Given the description of an element on the screen output the (x, y) to click on. 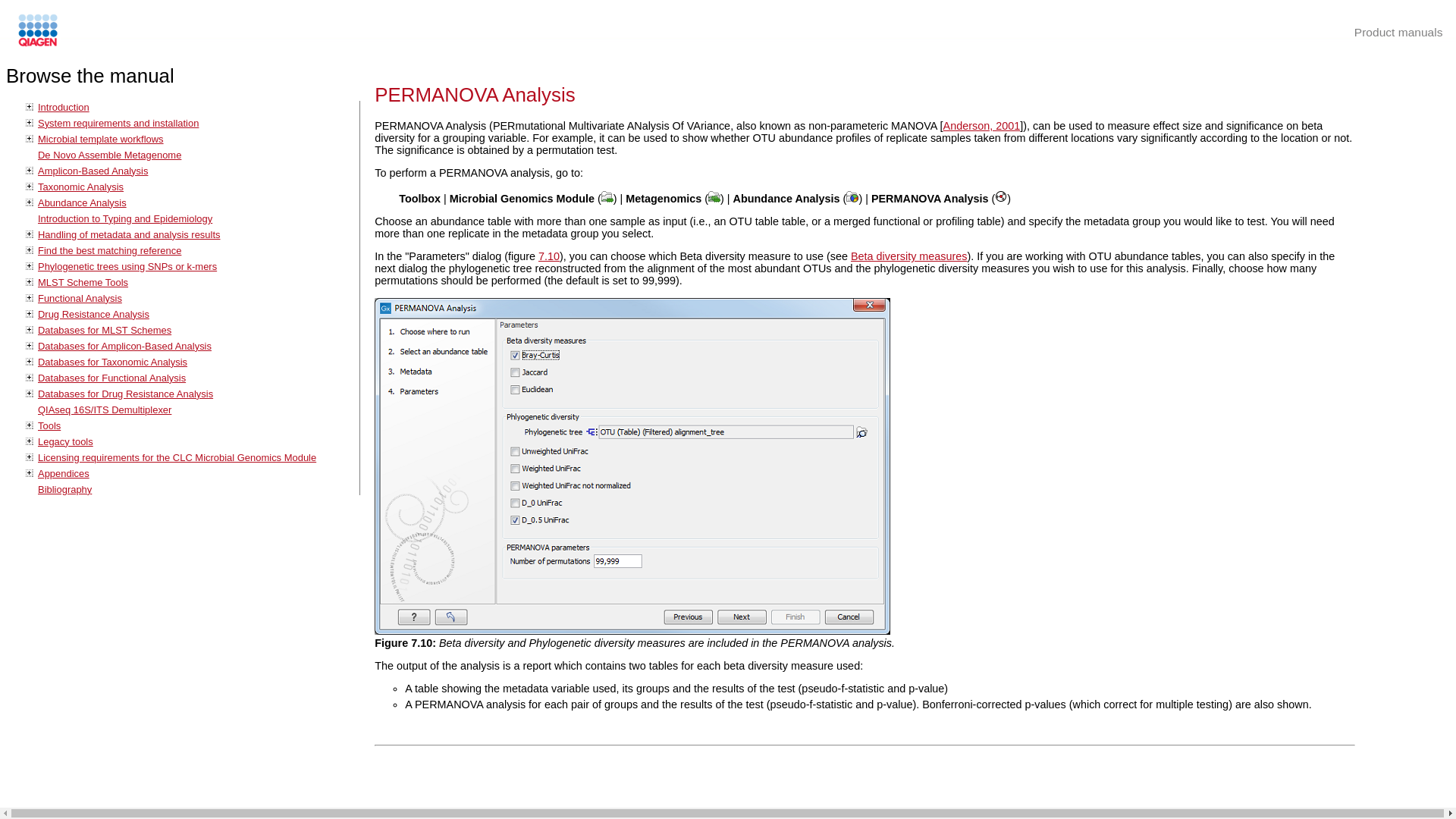
Microbial template workflows (100, 138)
De Novo Assemble Metagenome (108, 154)
Introduction (62, 107)
Amplicon-Based Analysis (92, 170)
Product manuals (1398, 31)
System requirements and installation (117, 122)
